Given the description of an element on the screen output the (x, y) to click on. 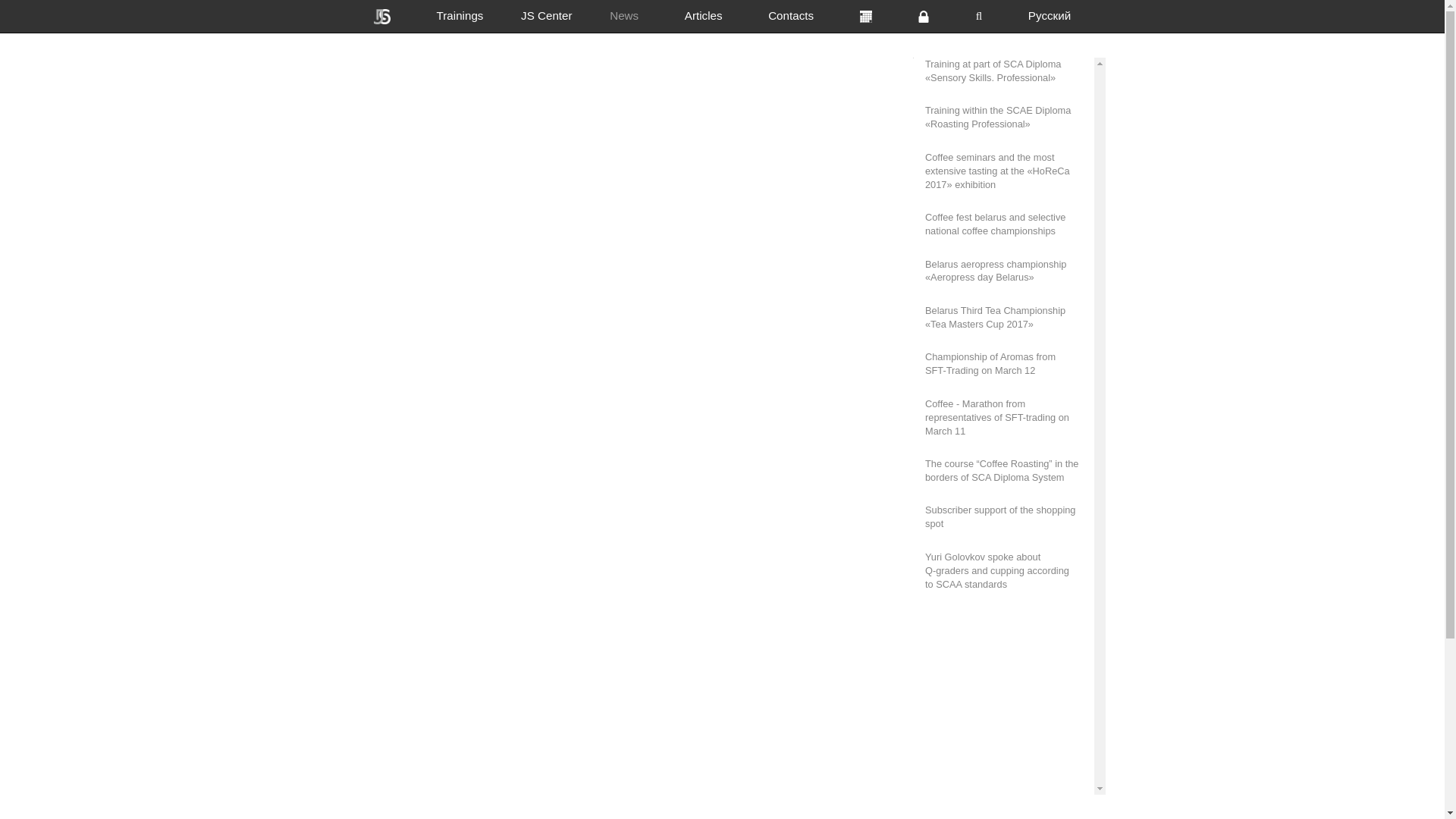
News (624, 15)
Championship of Aromas from SFT-Trading on March 12 (1003, 363)
Subscriber support of the shopping spot (1003, 516)
Trainings (459, 15)
Articles (702, 15)
JS Center (546, 15)
Contacts (791, 15)
